Given the description of an element on the screen output the (x, y) to click on. 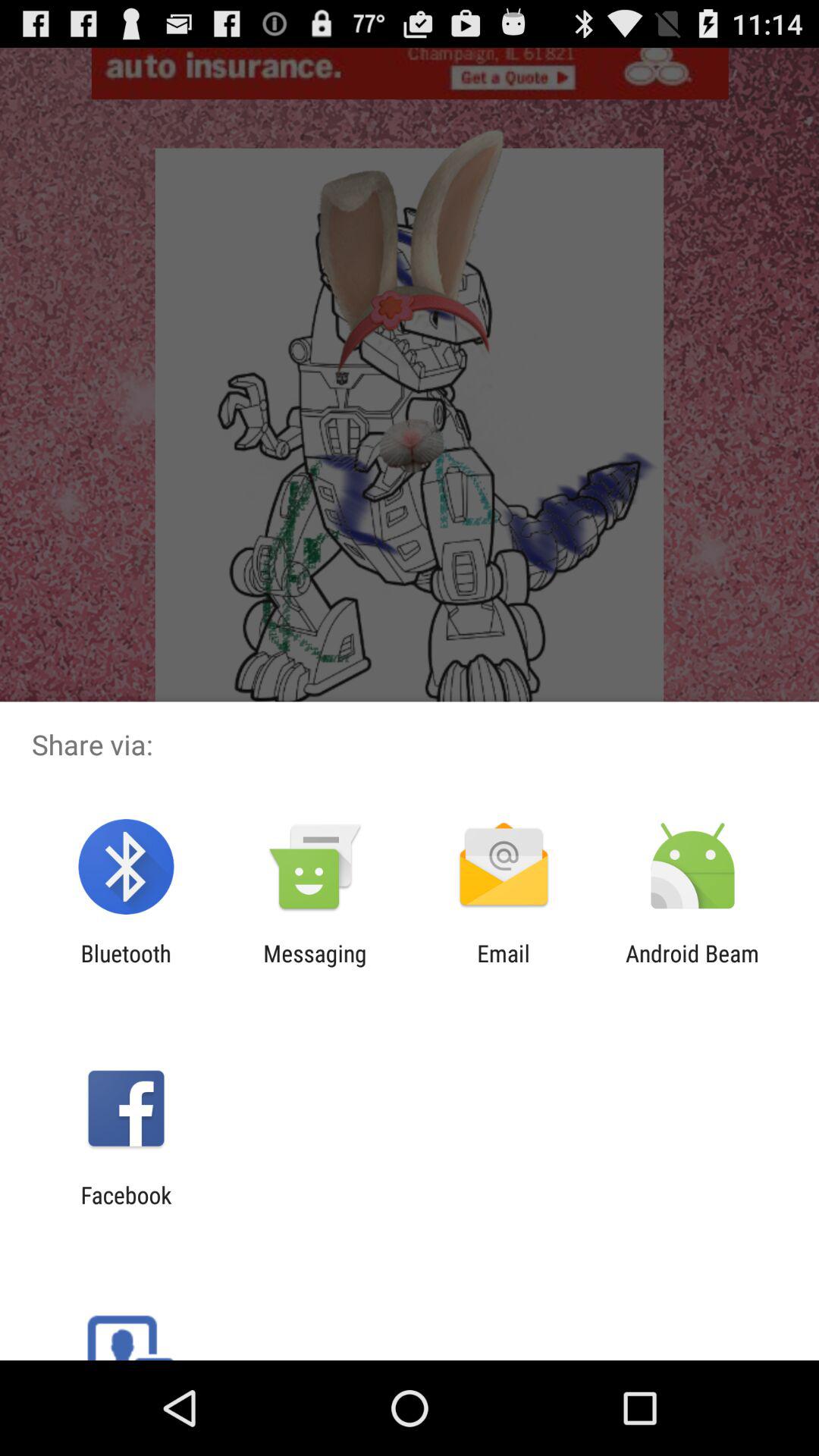
flip to the android beam (692, 966)
